Given the description of an element on the screen output the (x, y) to click on. 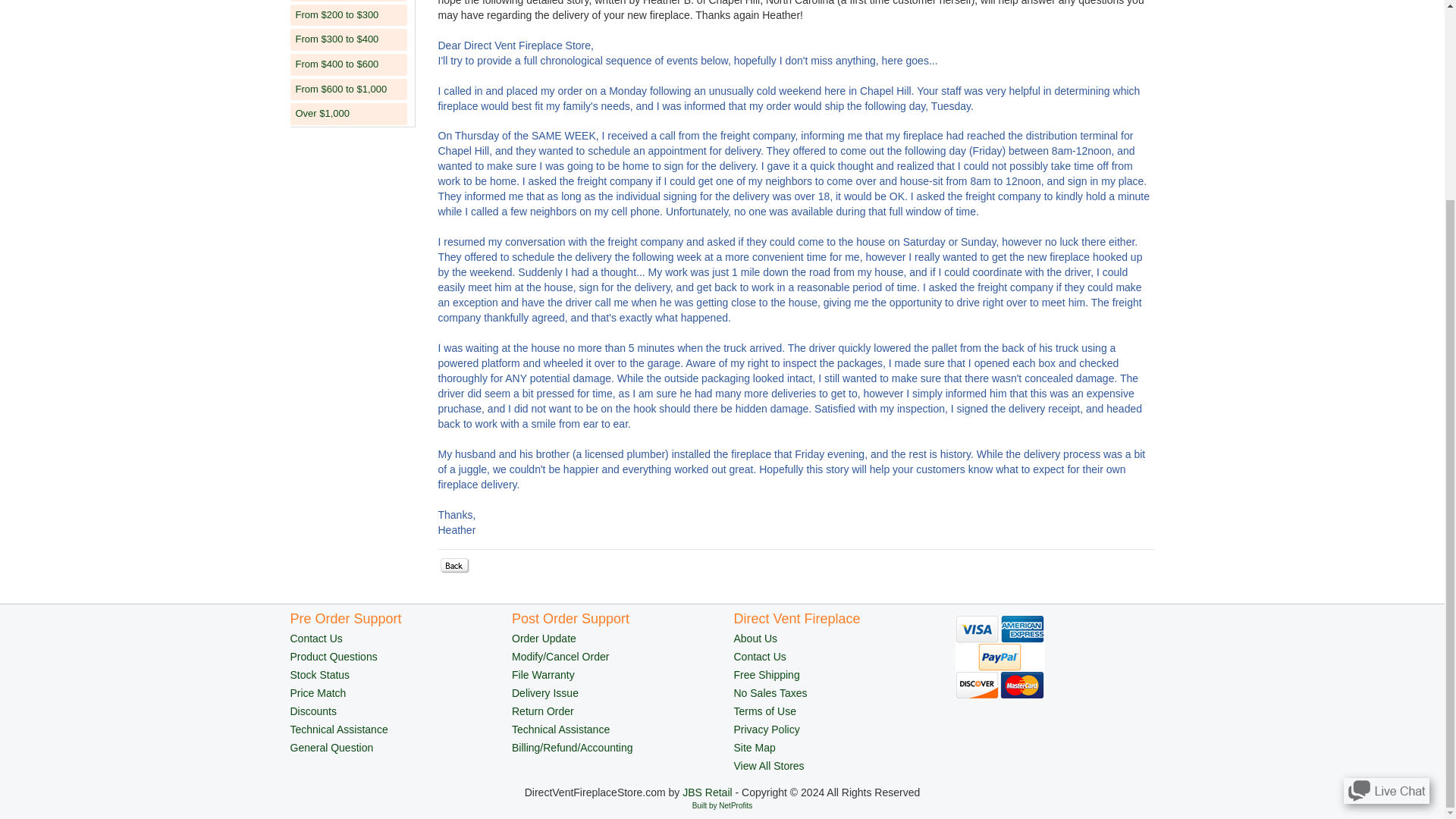
Leave us a message! (1386, 535)
